Given the description of an element on the screen output the (x, y) to click on. 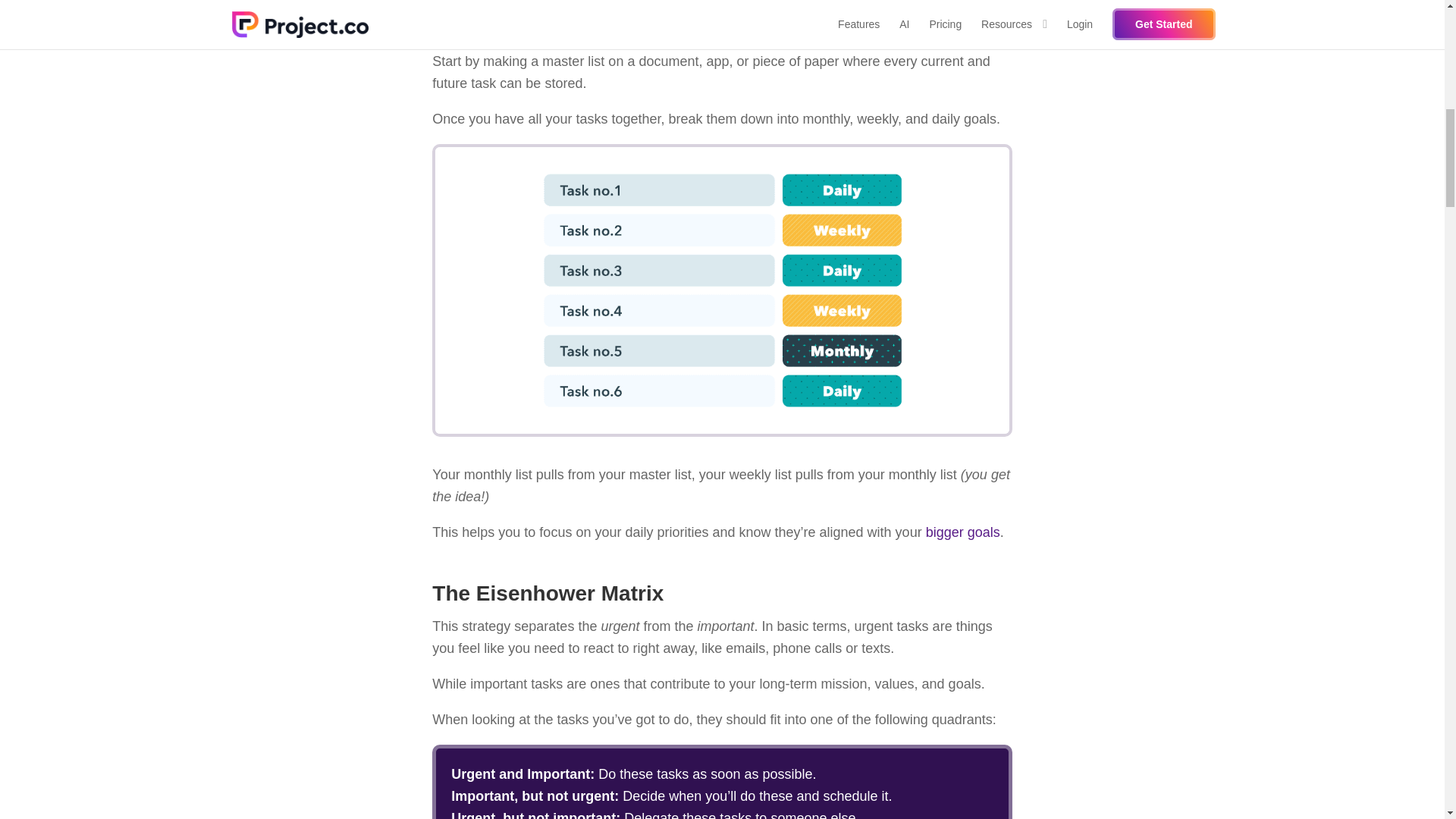
bigger goals (963, 531)
